Given the description of an element on the screen output the (x, y) to click on. 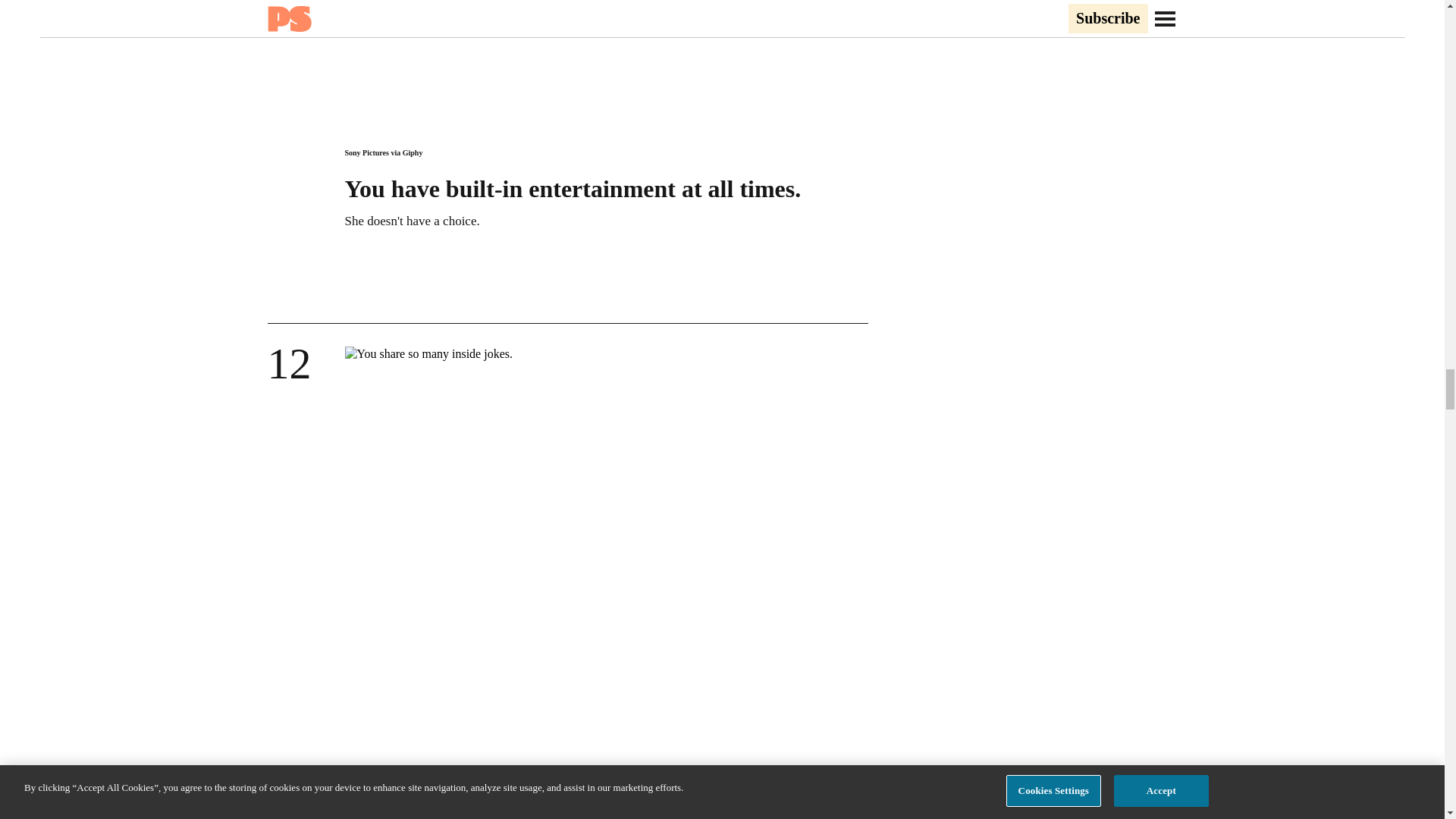
Sony Pictures via Giphy (382, 152)
